Given the description of an element on the screen output the (x, y) to click on. 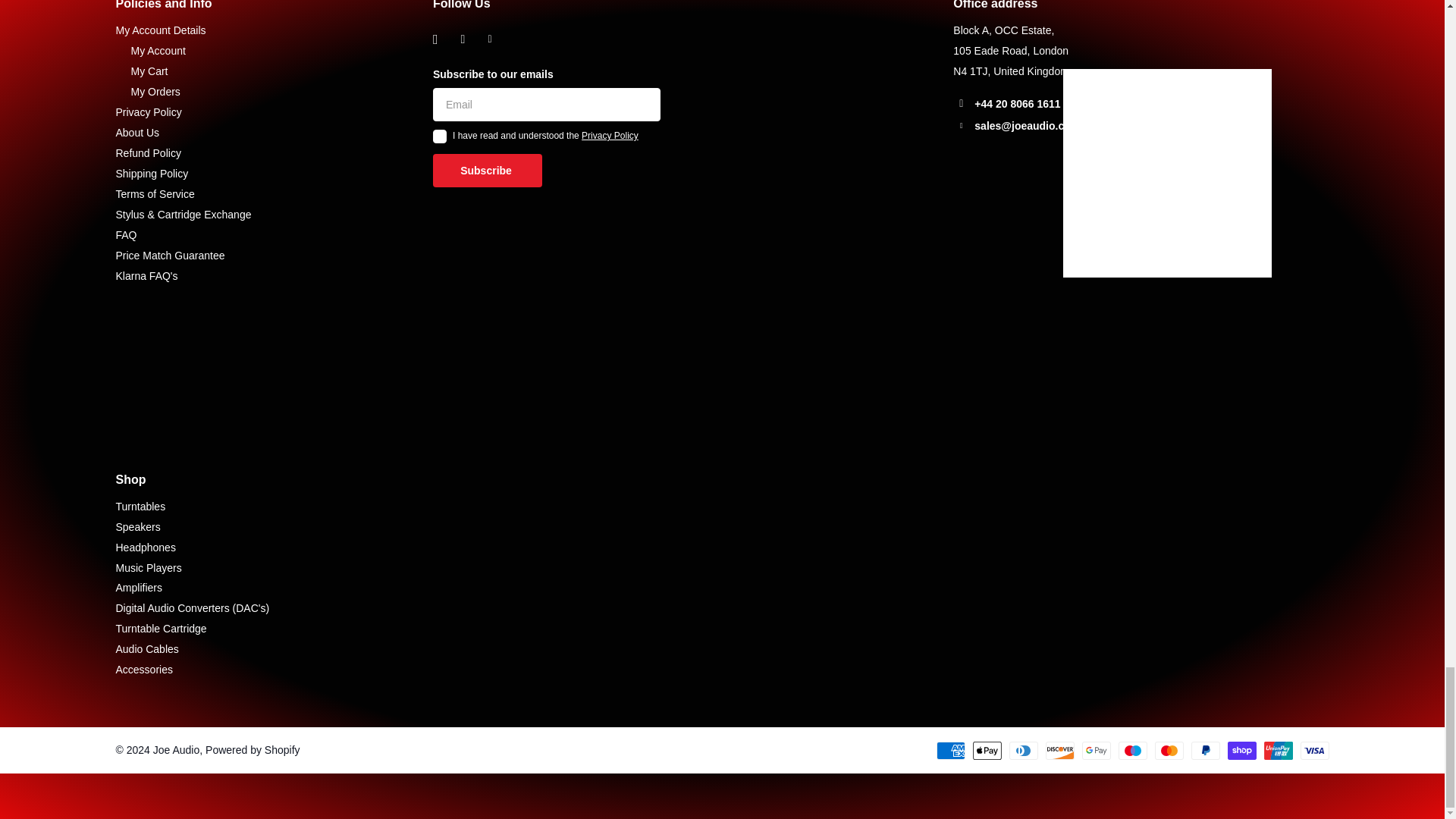
Apple Pay (986, 751)
Mastercard (1168, 751)
My Account Details (160, 30)
Refund Policy (147, 152)
PayPal (1205, 751)
FAQ (125, 234)
Diners Club (1022, 751)
Google Pay (1095, 751)
Privacy Policy (147, 111)
My Cart (149, 70)
